Given the description of an element on the screen output the (x, y) to click on. 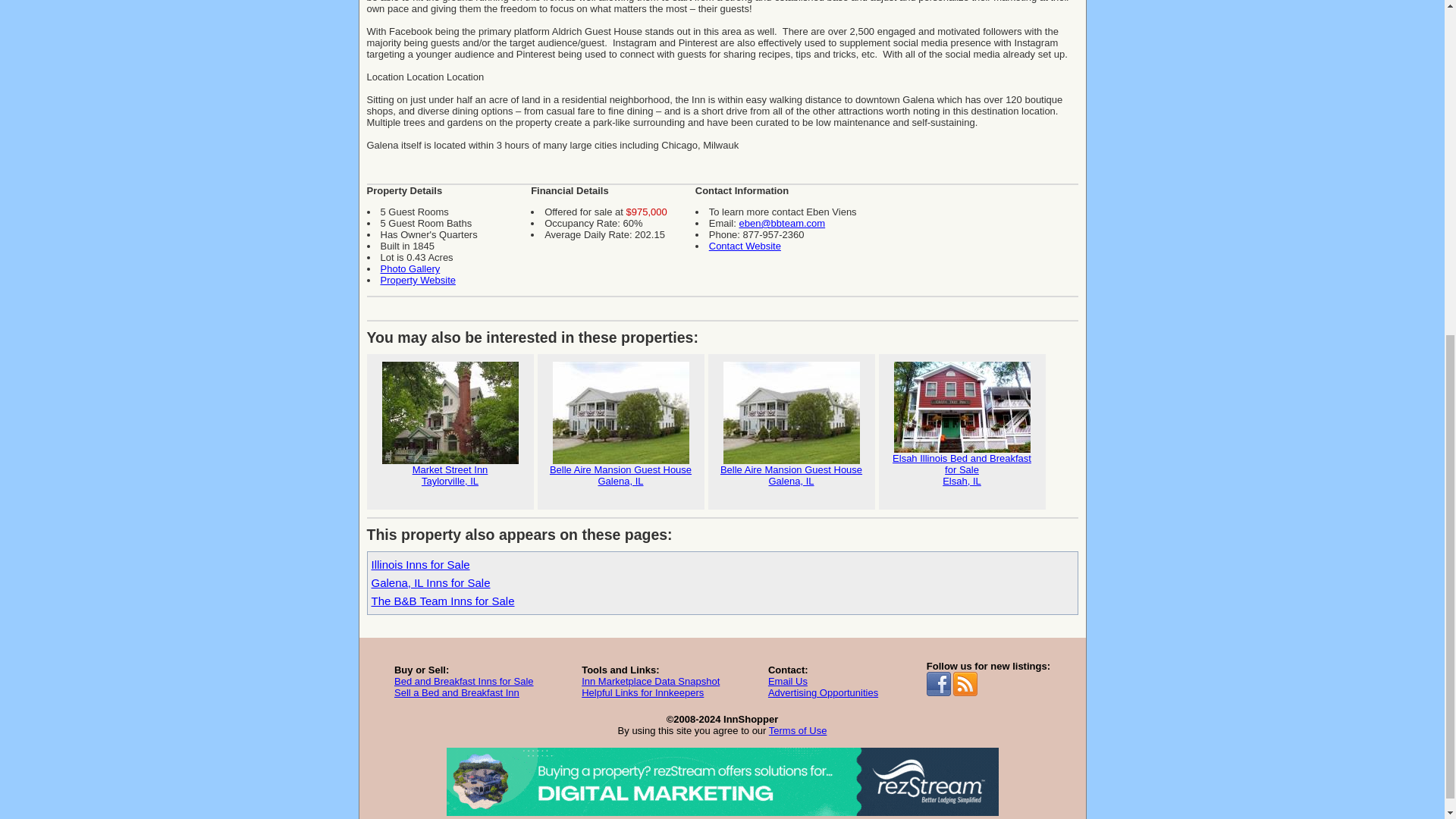
Photo Gallery (410, 268)
Terms of Use (791, 431)
Helpful Links for Innkeepers (797, 730)
Email Us (641, 692)
Sell a Bed and Breakfast Inn (788, 681)
Contact Website (456, 692)
Property Website (450, 431)
Inn Marketplace Data Snapshot (744, 245)
Galena, IL Inns for Sale (417, 279)
Illinois Inns for Sale (649, 681)
Bed and Breakfast Inns for Sale (961, 431)
